Given the description of an element on the screen output the (x, y) to click on. 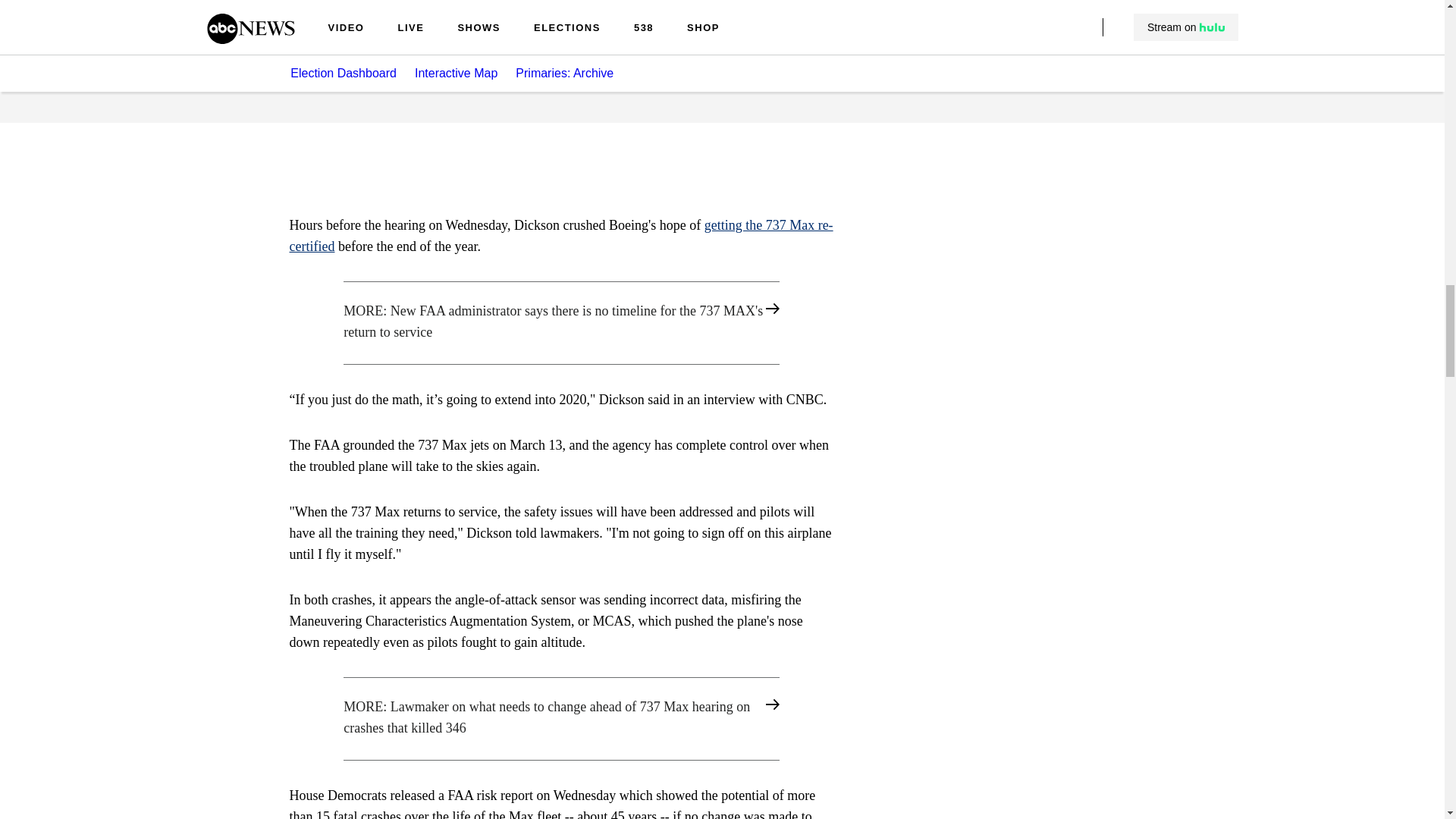
getting the 737 Max re-certified (560, 235)
